Given the description of an element on the screen output the (x, y) to click on. 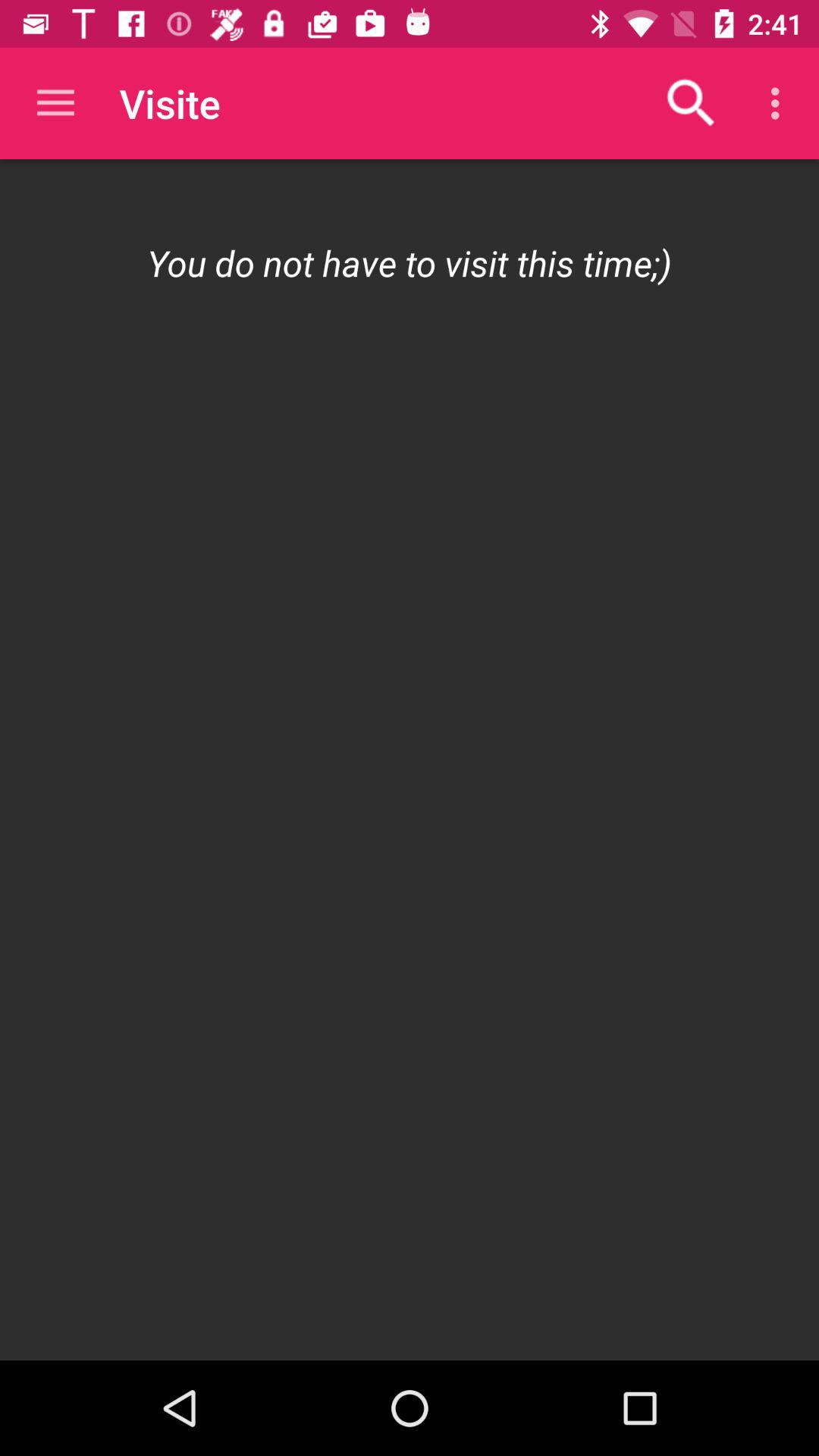
turn on app next to the visite app (691, 103)
